Given the description of an element on the screen output the (x, y) to click on. 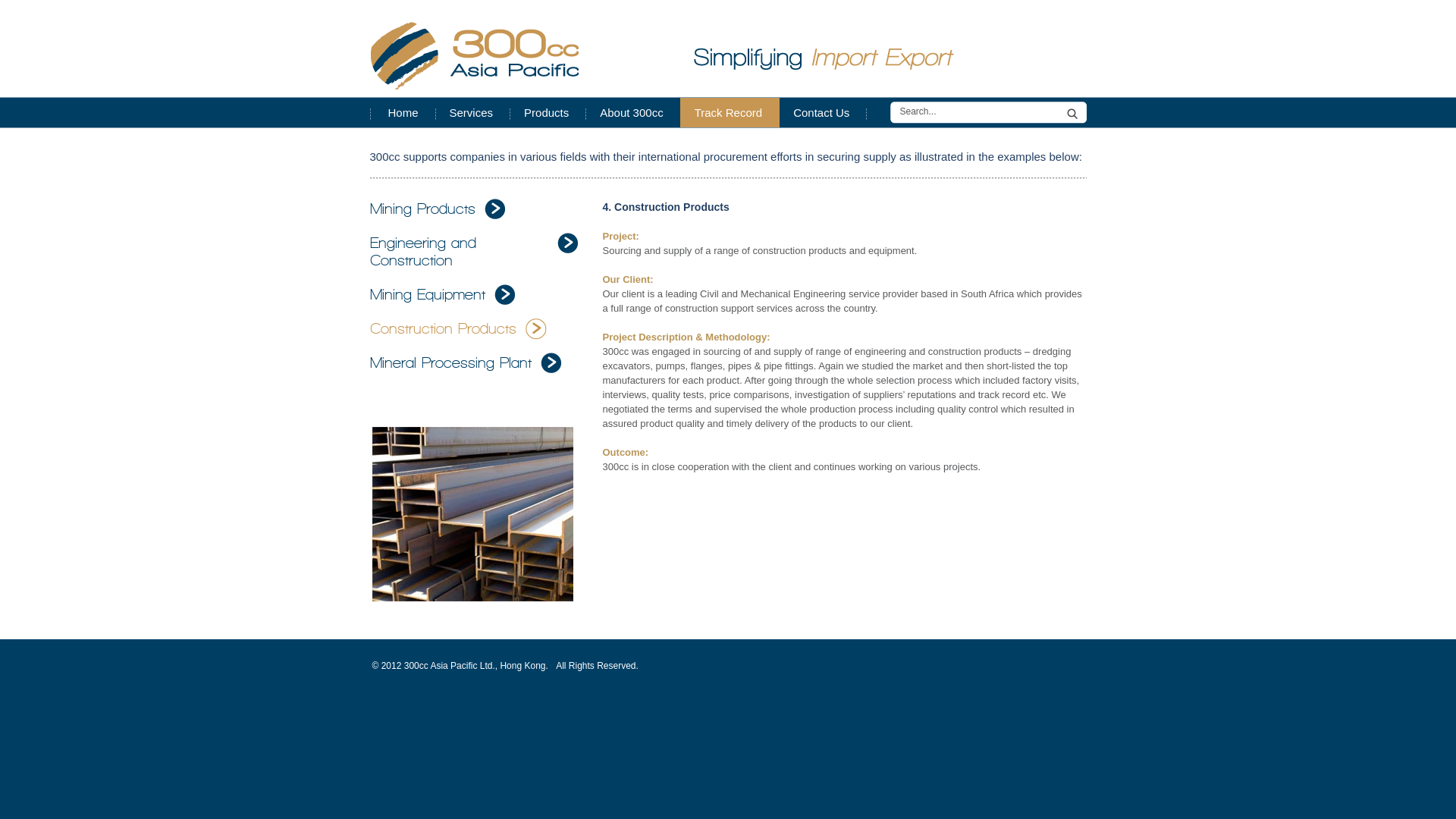
Mineral Processing Plant Element type: text (465, 362)
Engineering and Construction Element type: text (474, 251)
About 300cc Element type: text (632, 112)
Mining Equipment Element type: text (442, 294)
Track Record Element type: text (729, 112)
submit Element type: text (1073, 112)
Contact Us Element type: text (822, 112)
300ccAsiaPacific Element type: text (473, 55)
Construction Products Element type: text (458, 328)
Mining Products Element type: text (437, 208)
Services Element type: text (473, 112)
Products Element type: text (547, 112)
Home Element type: text (404, 112)
